Given the description of an element on the screen output the (x, y) to click on. 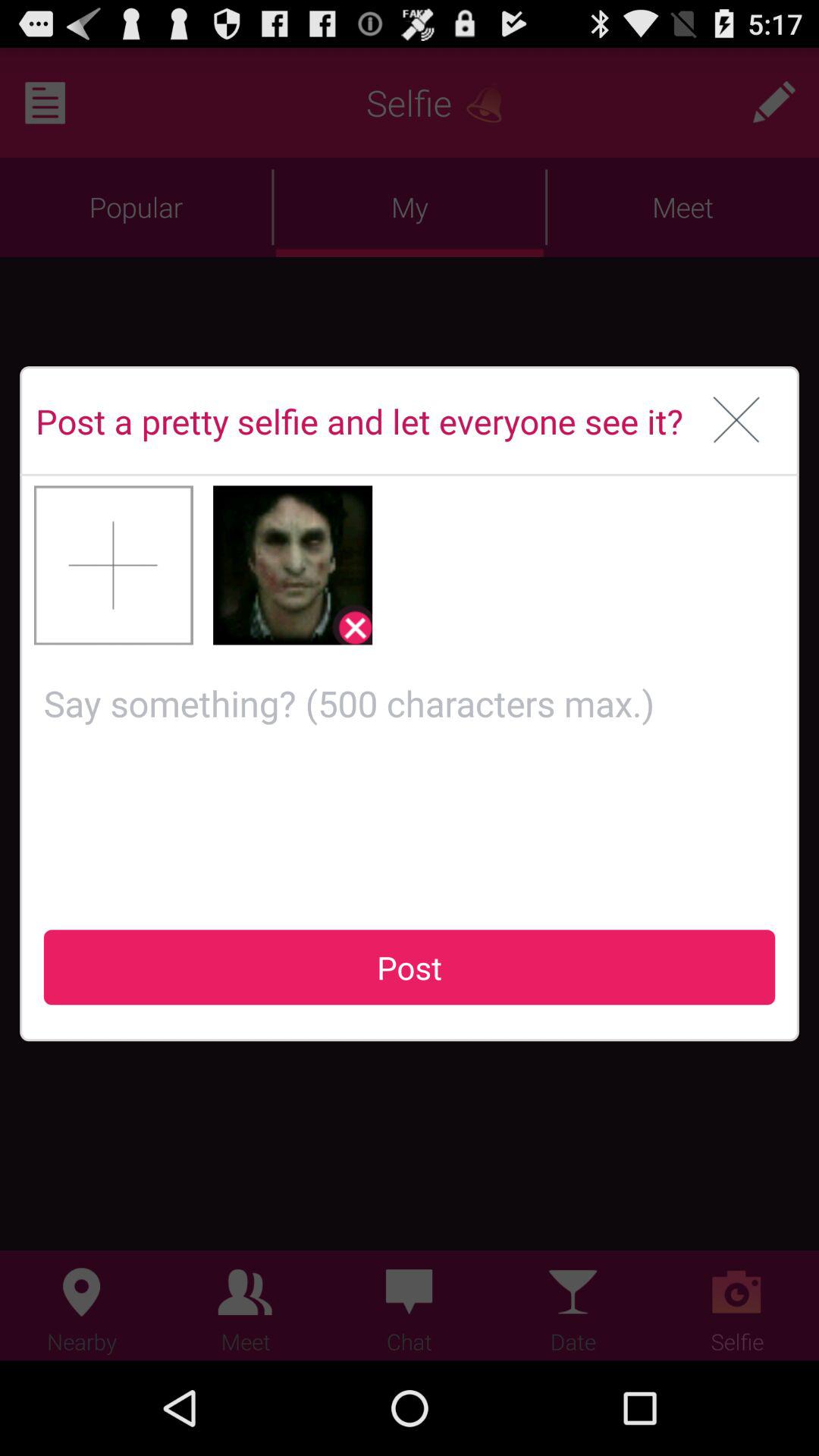
press app next to the post a pretty app (736, 421)
